Given the description of an element on the screen output the (x, y) to click on. 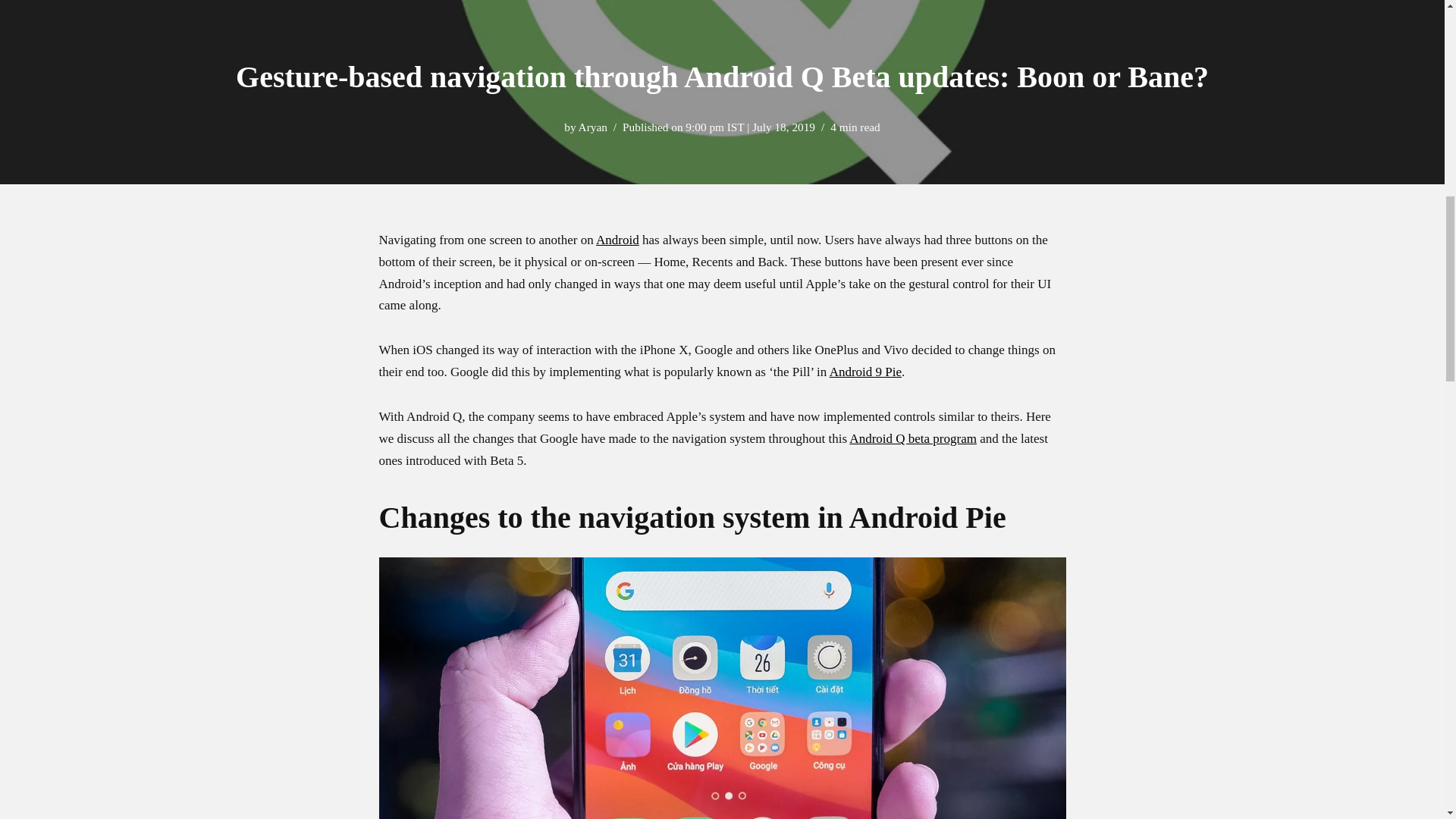
Posts by Aryan (592, 126)
